Given the description of an element on the screen output the (x, y) to click on. 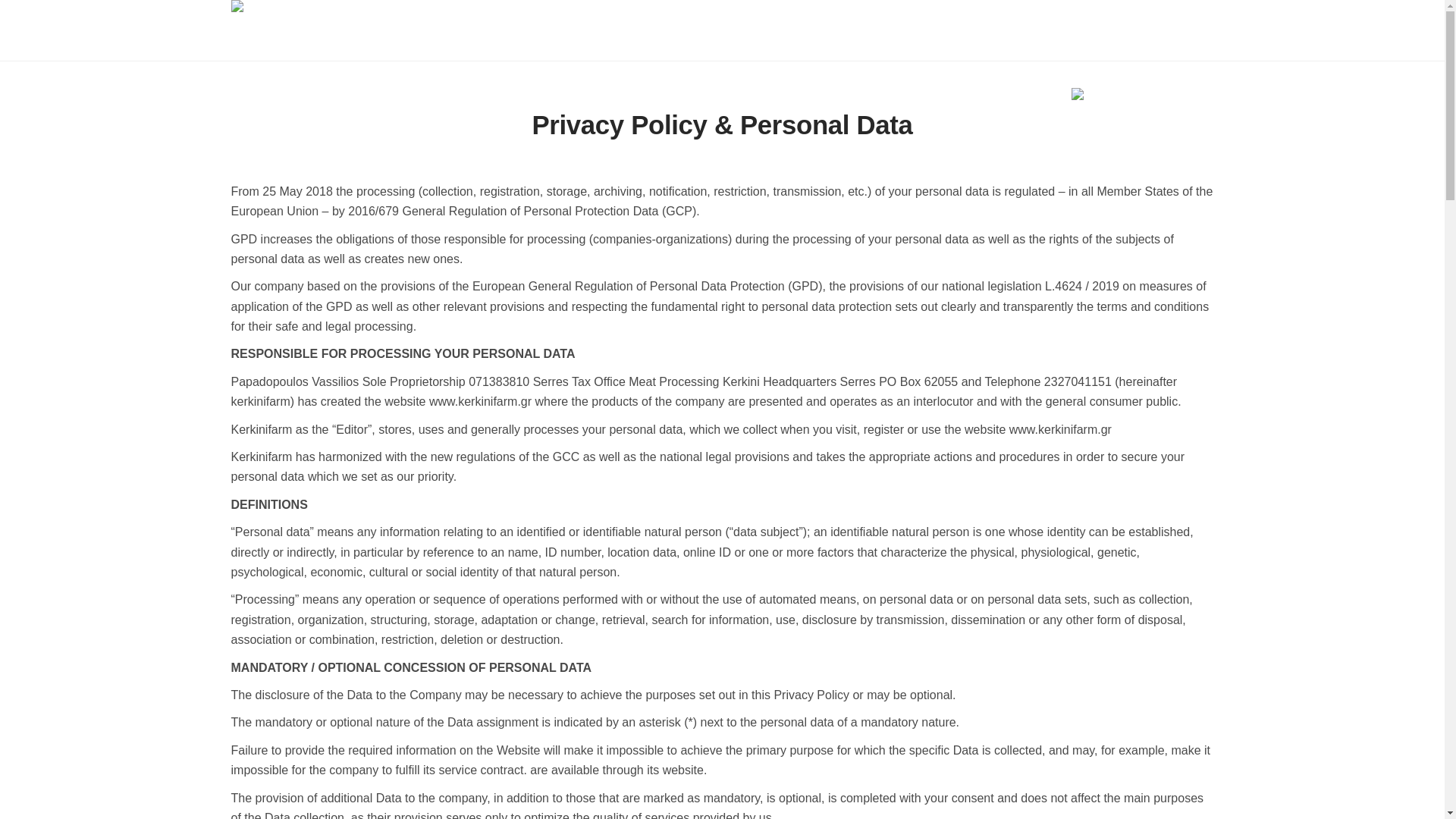
About Us (469, 91)
Blog (915, 91)
Contact Us (984, 91)
Our Farm (393, 91)
Kerkini Farm Distribution Network (742, 91)
Kerkini Farm Products (575, 91)
English (1111, 90)
B2B (863, 91)
